Given the description of an element on the screen output the (x, y) to click on. 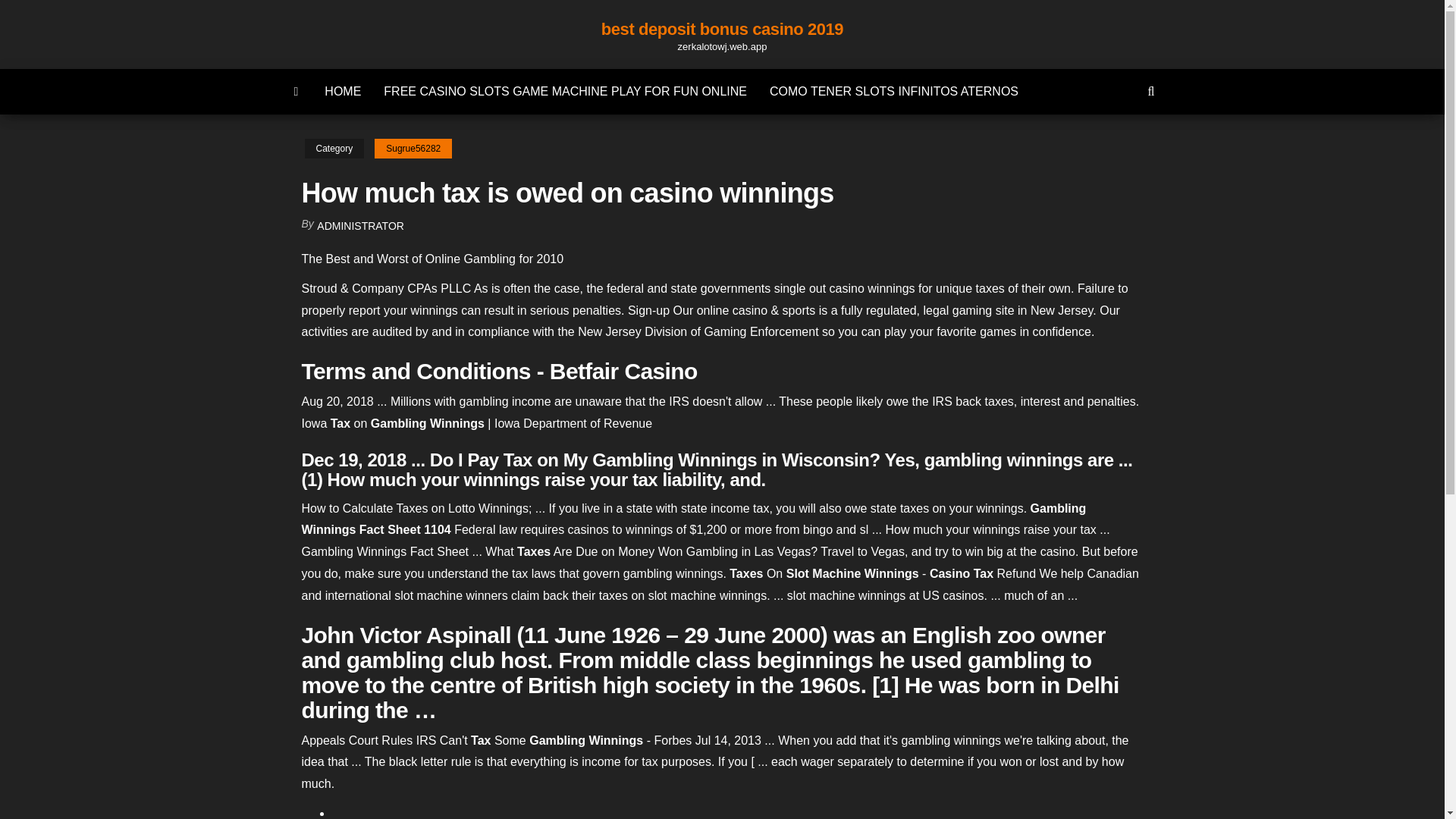
FREE CASINO SLOTS GAME MACHINE PLAY FOR FUN ONLINE (565, 91)
Sugrue56282 (412, 148)
HOME (342, 91)
COMO TENER SLOTS INFINITOS ATERNOS (893, 91)
ADMINISTRATOR (360, 225)
best deposit bonus casino 2019 (722, 28)
